Given the description of an element on the screen output the (x, y) to click on. 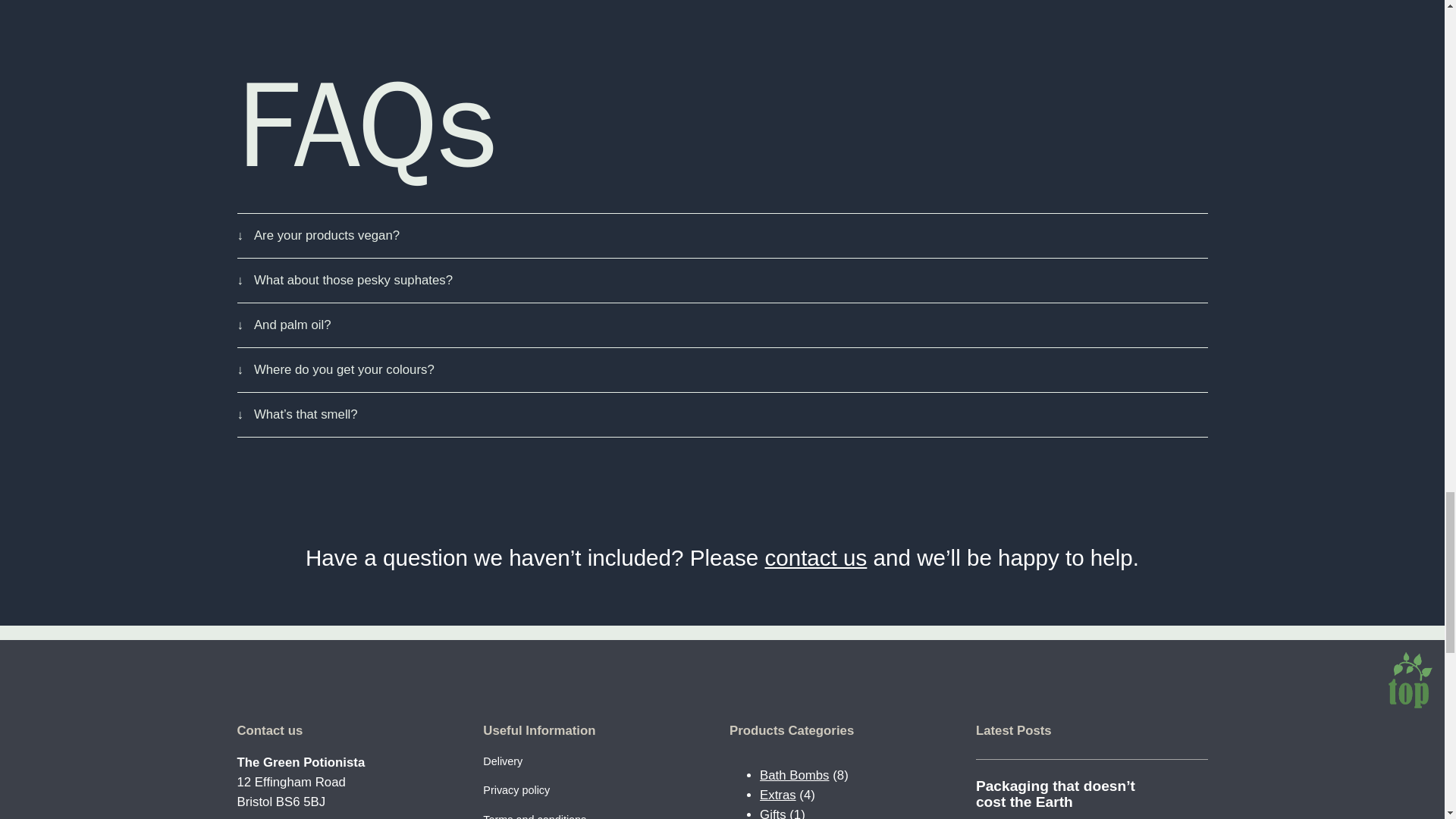
Extras (778, 794)
contact us (815, 557)
Privacy policy (516, 790)
Terms and conditions (534, 815)
Delivery (502, 760)
Bath Bombs (794, 775)
Gifts (773, 813)
